Given the description of an element on the screen output the (x, y) to click on. 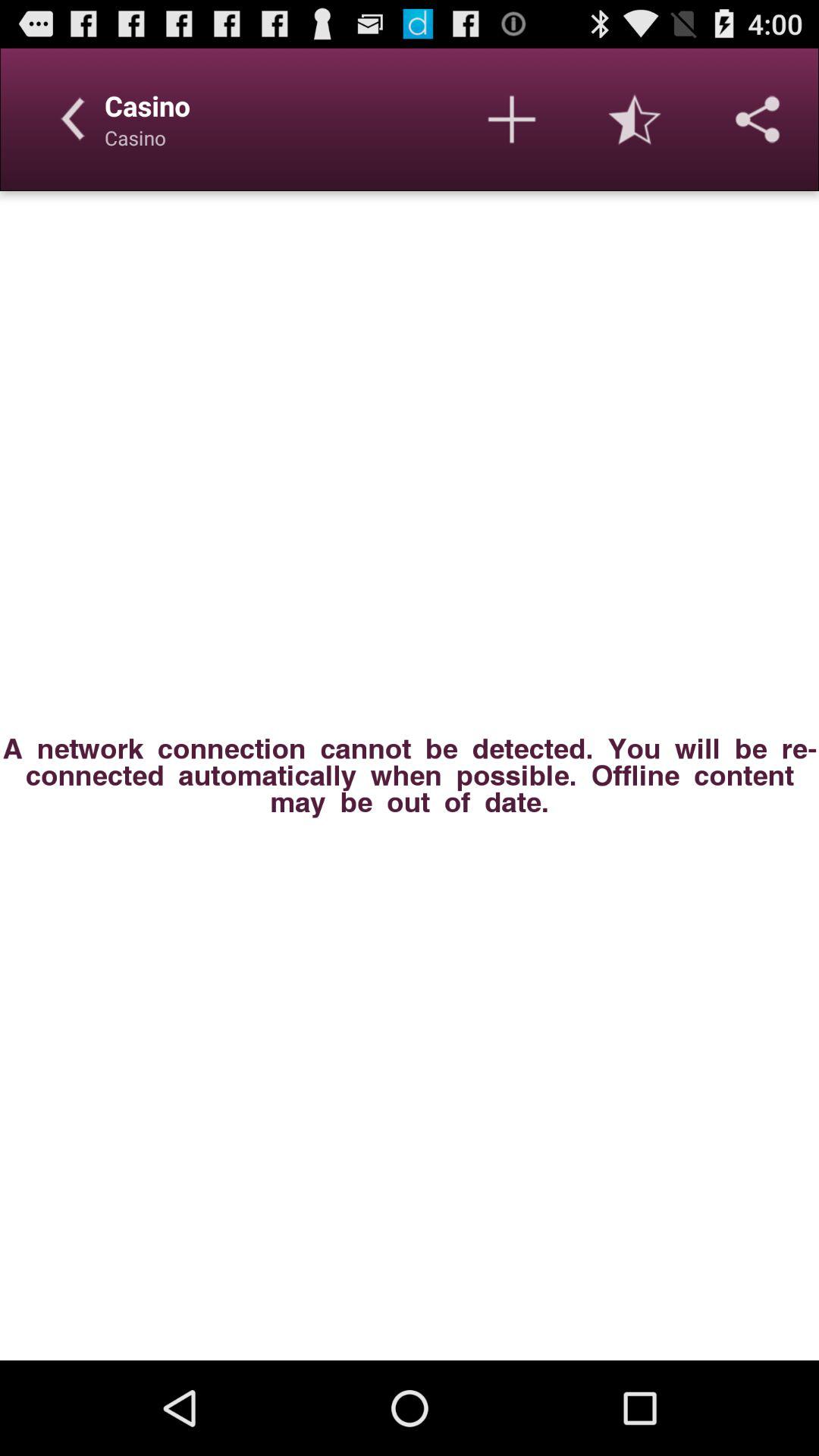
toggle star (634, 119)
